Given the description of an element on the screen output the (x, y) to click on. 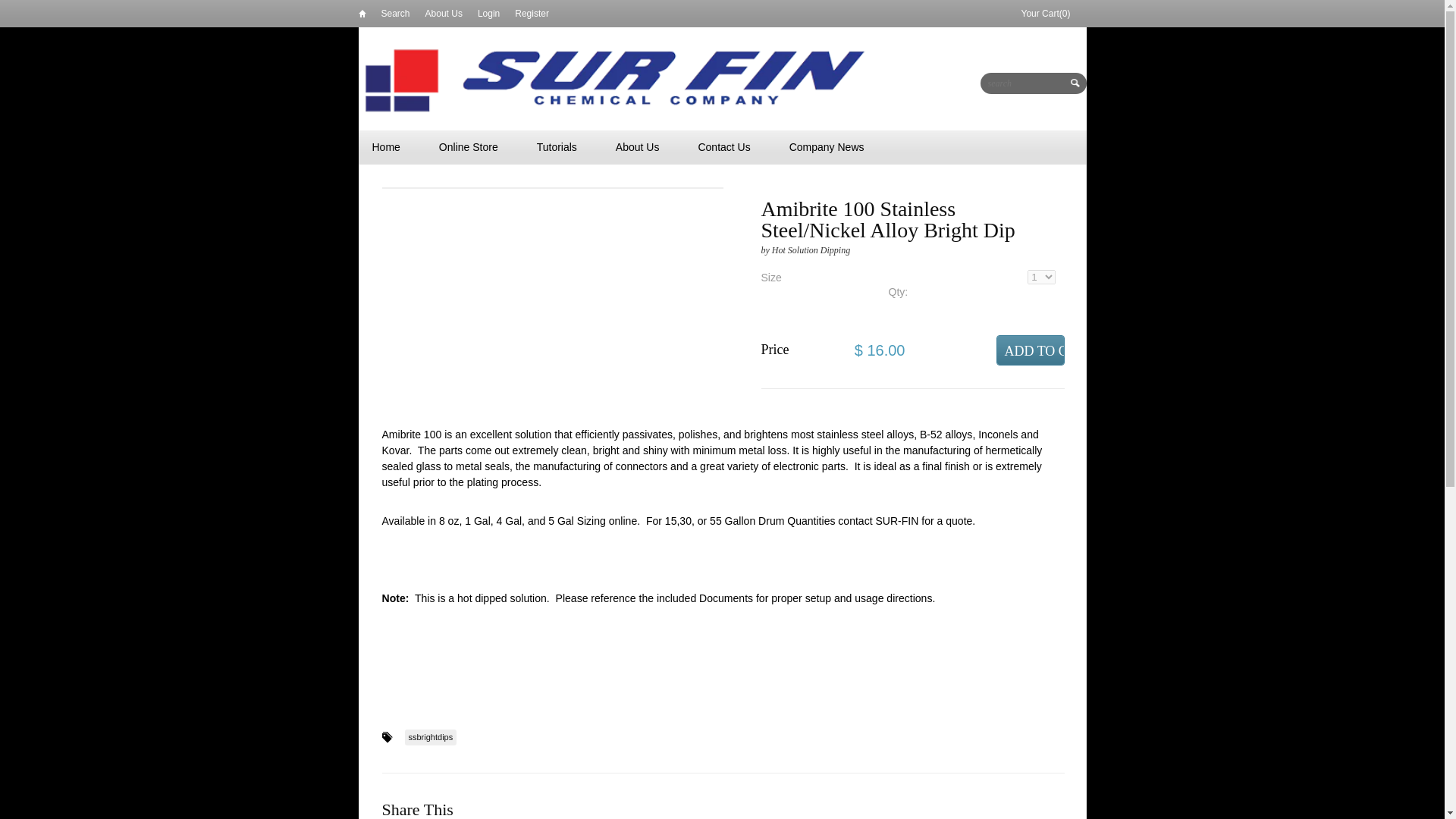
Home (385, 147)
About Us (444, 13)
Contact Us (723, 147)
Register (531, 13)
About Us (637, 147)
Search (394, 13)
SUR FIN Chemical. (615, 78)
Company News (826, 147)
Tutorials (557, 147)
Login (488, 13)
ssbrightdips (430, 737)
Add to Cart (1029, 349)
Online Store (467, 147)
Add to Cart (1029, 349)
